Given the description of an element on the screen output the (x, y) to click on. 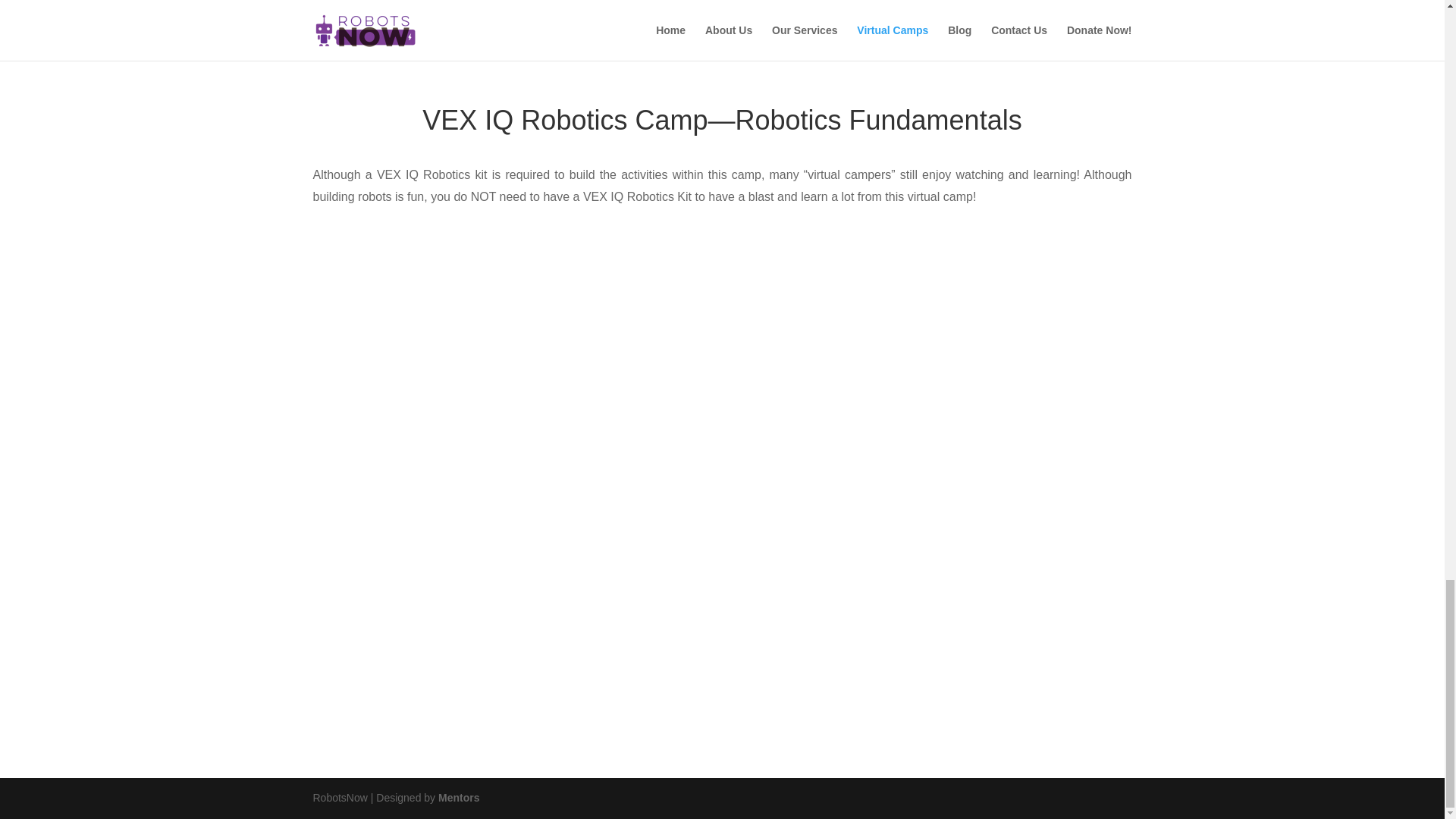
RobotsNOW Tower of Zoom Virtual STEM Camp (722, 24)
Mentors (458, 797)
